Given the description of an element on the screen output the (x, y) to click on. 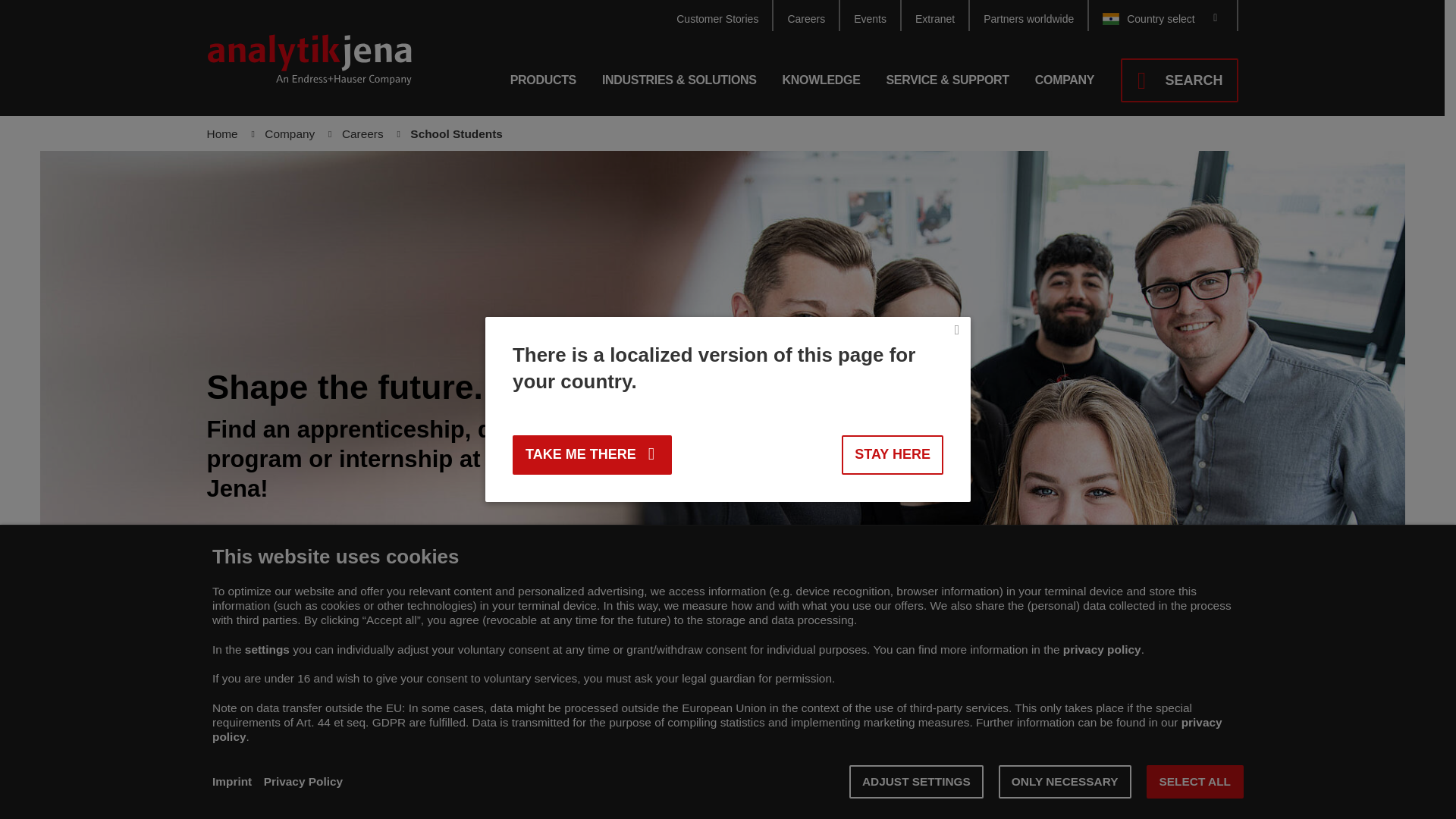
Customer Stories (717, 15)
Search (1179, 79)
Extranet (935, 15)
SEARCH (1179, 79)
Careers (806, 15)
Partners worldwide (1029, 15)
Close message (956, 330)
Events (870, 15)
